Given the description of an element on the screen output the (x, y) to click on. 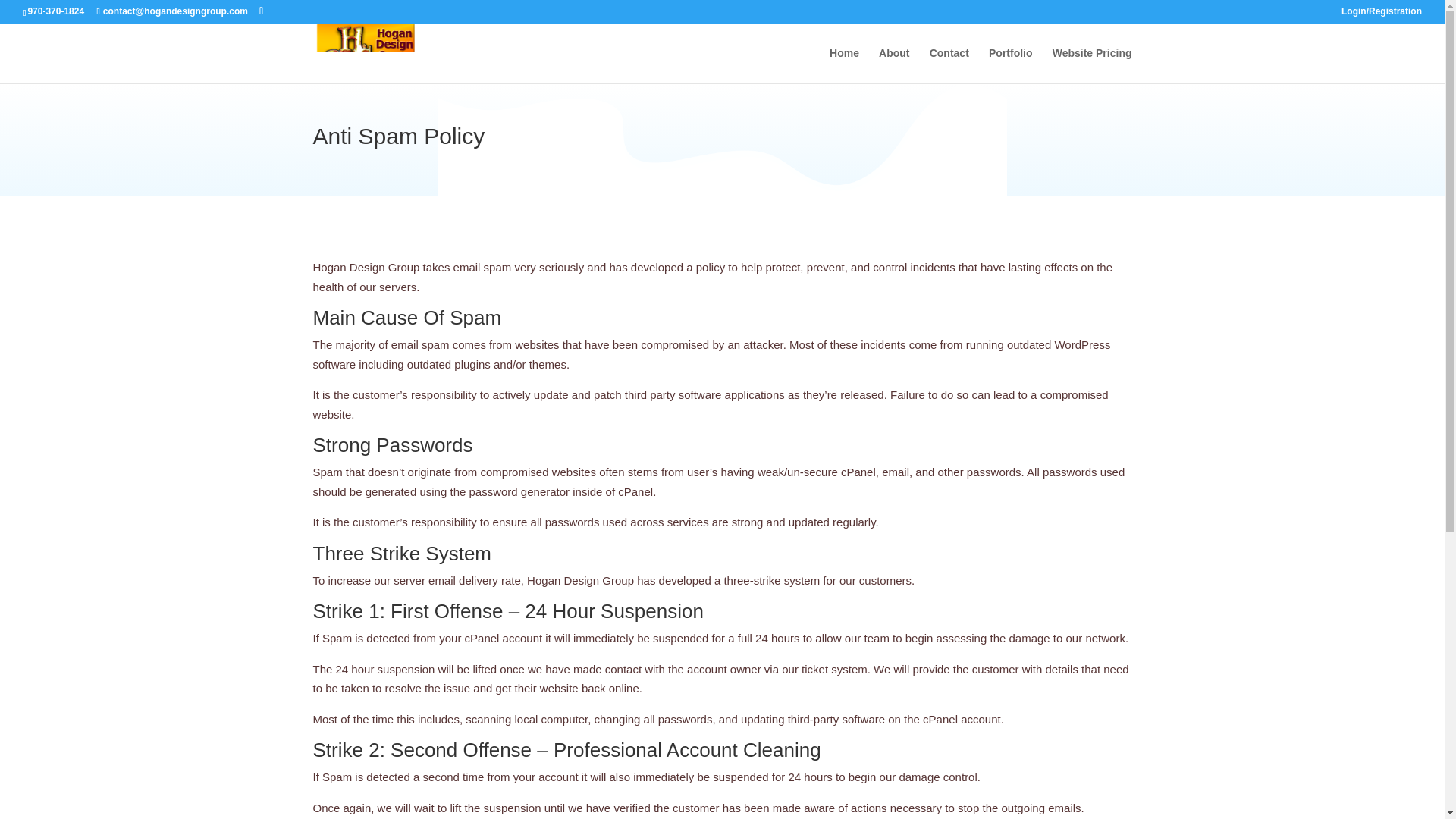
Contact (949, 65)
Website Pricing (1092, 65)
Portfolio (1010, 65)
